Given the description of an element on the screen output the (x, y) to click on. 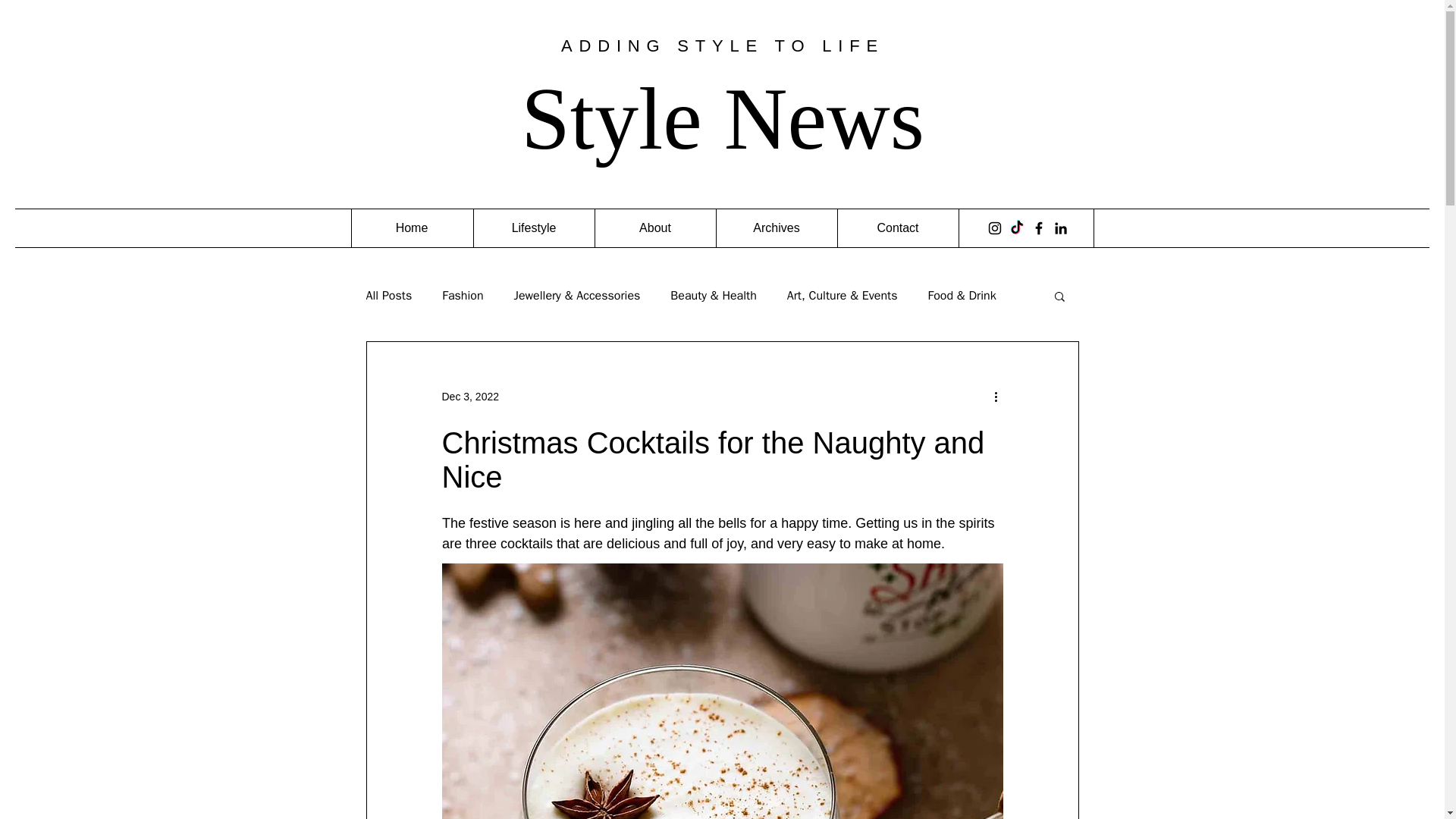
About (654, 228)
Fashion (462, 295)
Style News (722, 118)
Lifestyle (533, 228)
Dec 3, 2022 (470, 395)
Home (410, 228)
Archives (775, 228)
All Posts (388, 295)
Contact (897, 228)
